Given the description of an element on the screen output the (x, y) to click on. 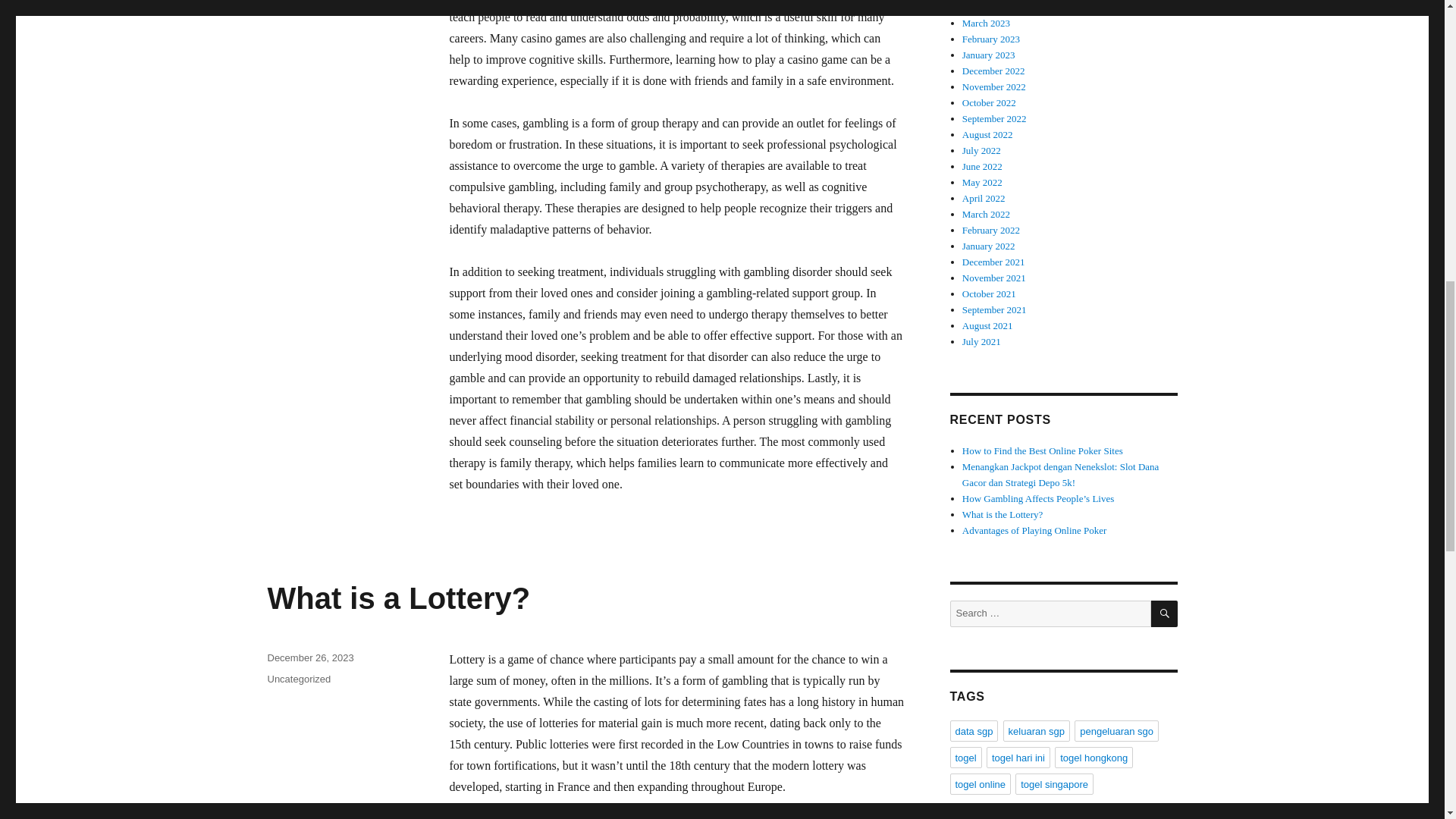
What is a Lottery? (397, 598)
December 26, 2023 (309, 657)
Uncategorized (298, 678)
